Given the description of an element on the screen output the (x, y) to click on. 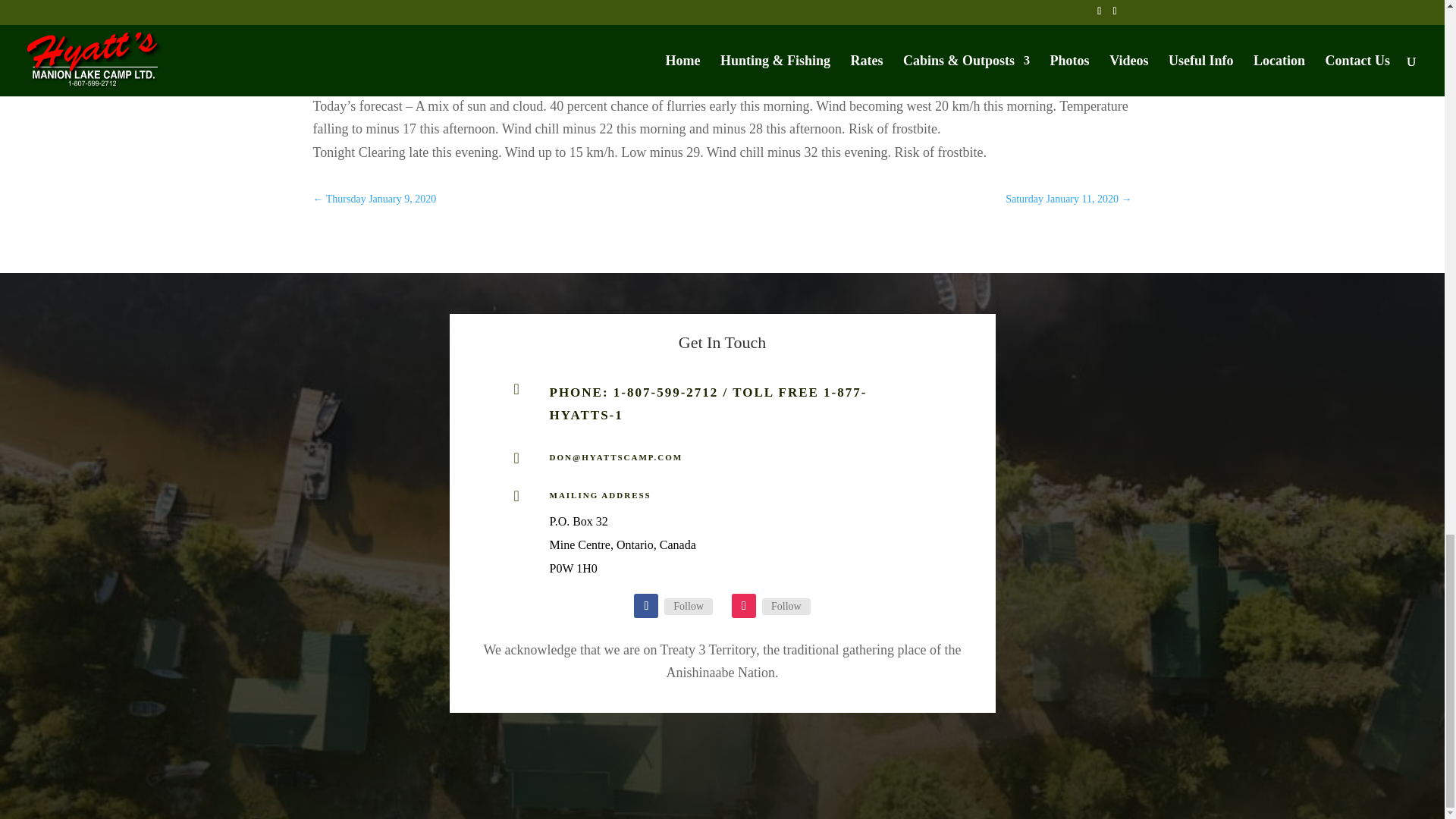
Facebook (688, 606)
Follow (785, 606)
Follow (688, 606)
Follow on Instagram (743, 605)
Instagram (785, 606)
Follow on Facebook (645, 605)
